Given the description of an element on the screen output the (x, y) to click on. 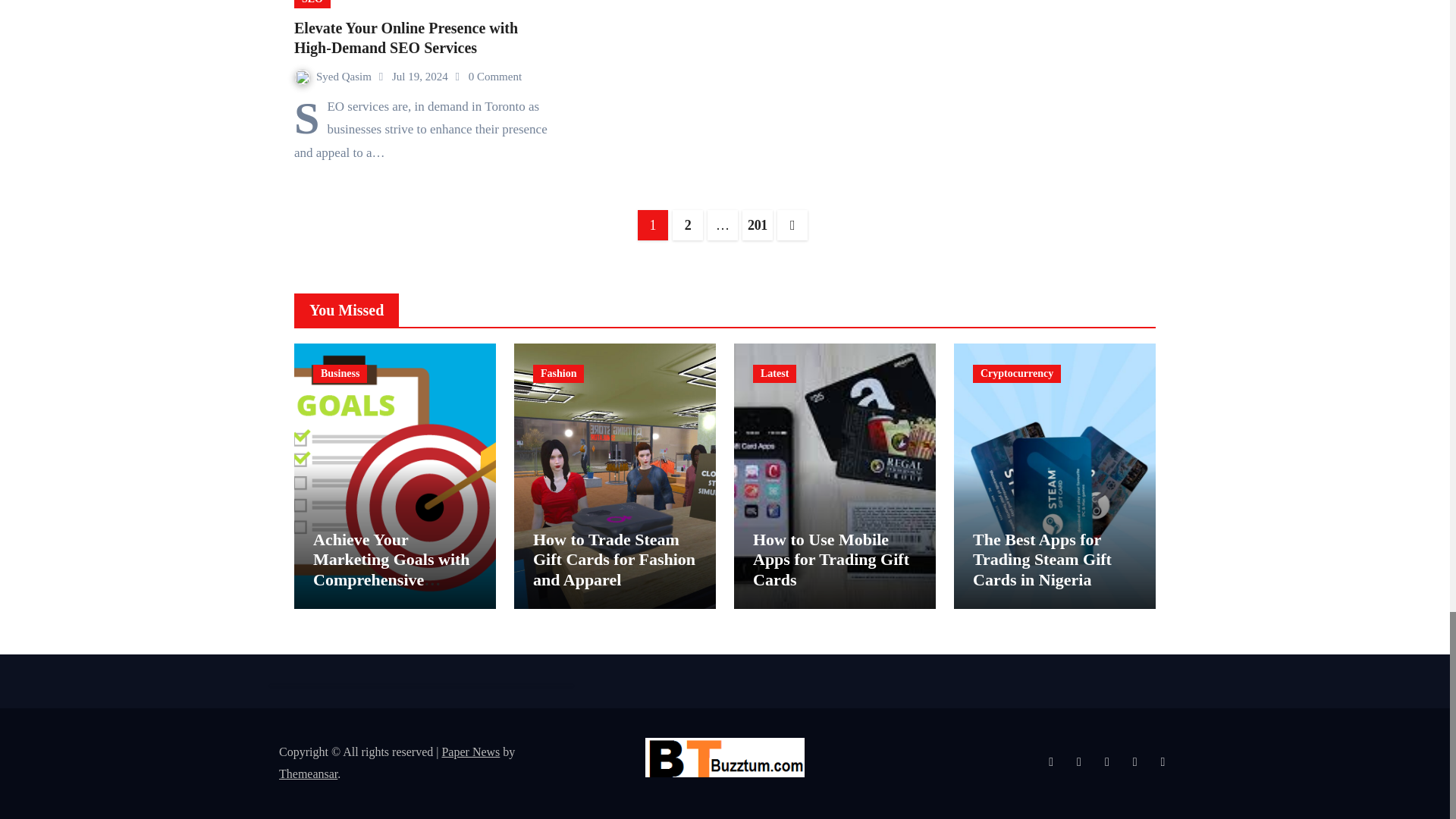
Permalink to: How to Use Mobile Apps for Trading Gift Cards (830, 558)
